Given the description of an element on the screen output the (x, y) to click on. 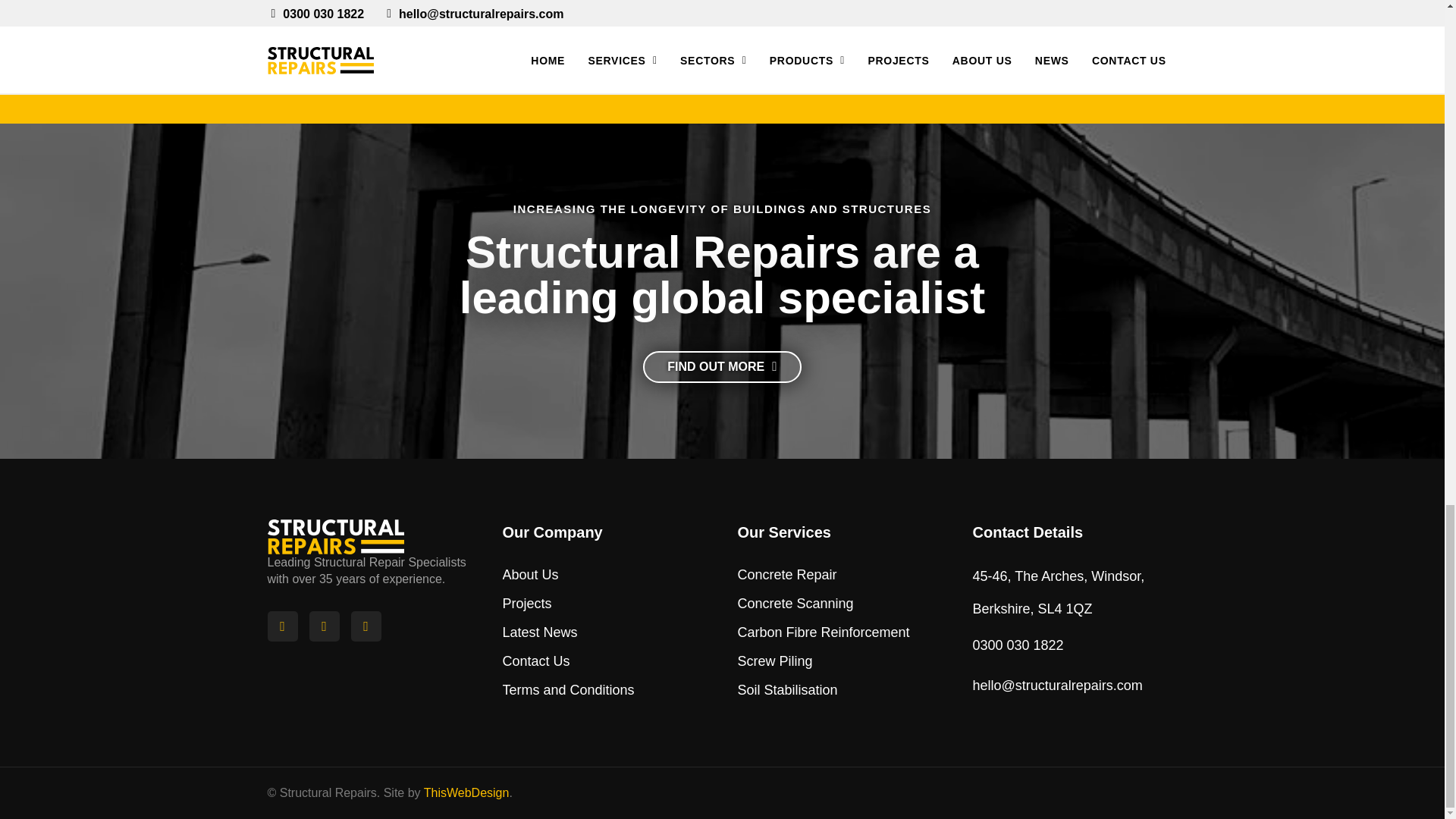
CONTACT US (1034, 35)
Concrete Scanning (796, 603)
Terms and Conditions (569, 689)
Soil Stabilisation (788, 689)
0300 030 1822 (1019, 645)
Projects (528, 603)
FIND OUT MORE (721, 367)
Latest News (541, 632)
About Us (532, 574)
ThisWebDesign (466, 792)
Screw Piling (775, 661)
Carbon Fibre Reinforcement (824, 632)
Contact Us (537, 661)
Concrete Repair (788, 574)
